Given the description of an element on the screen output the (x, y) to click on. 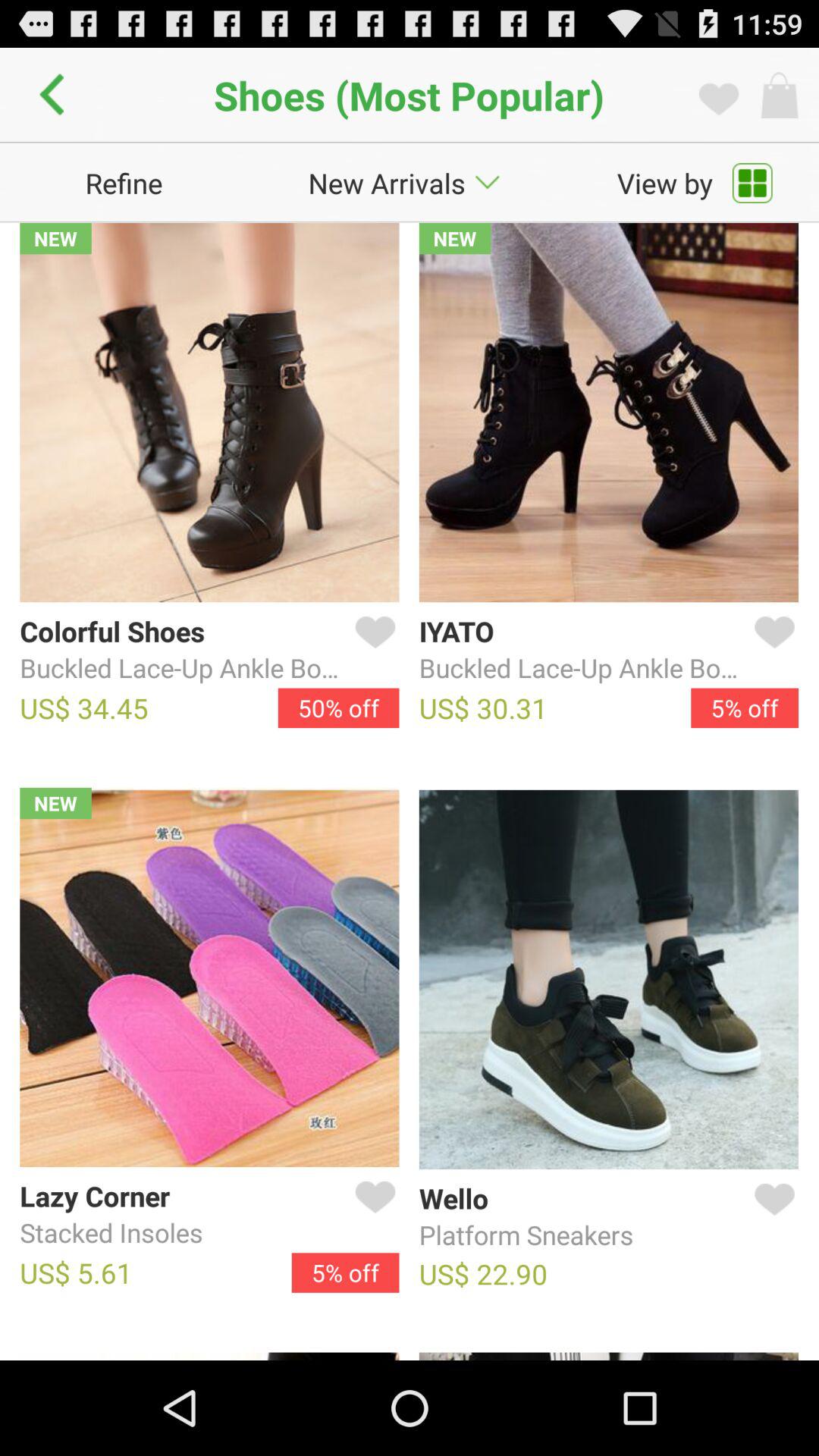
like element (771, 1217)
